Given the description of an element on the screen output the (x, y) to click on. 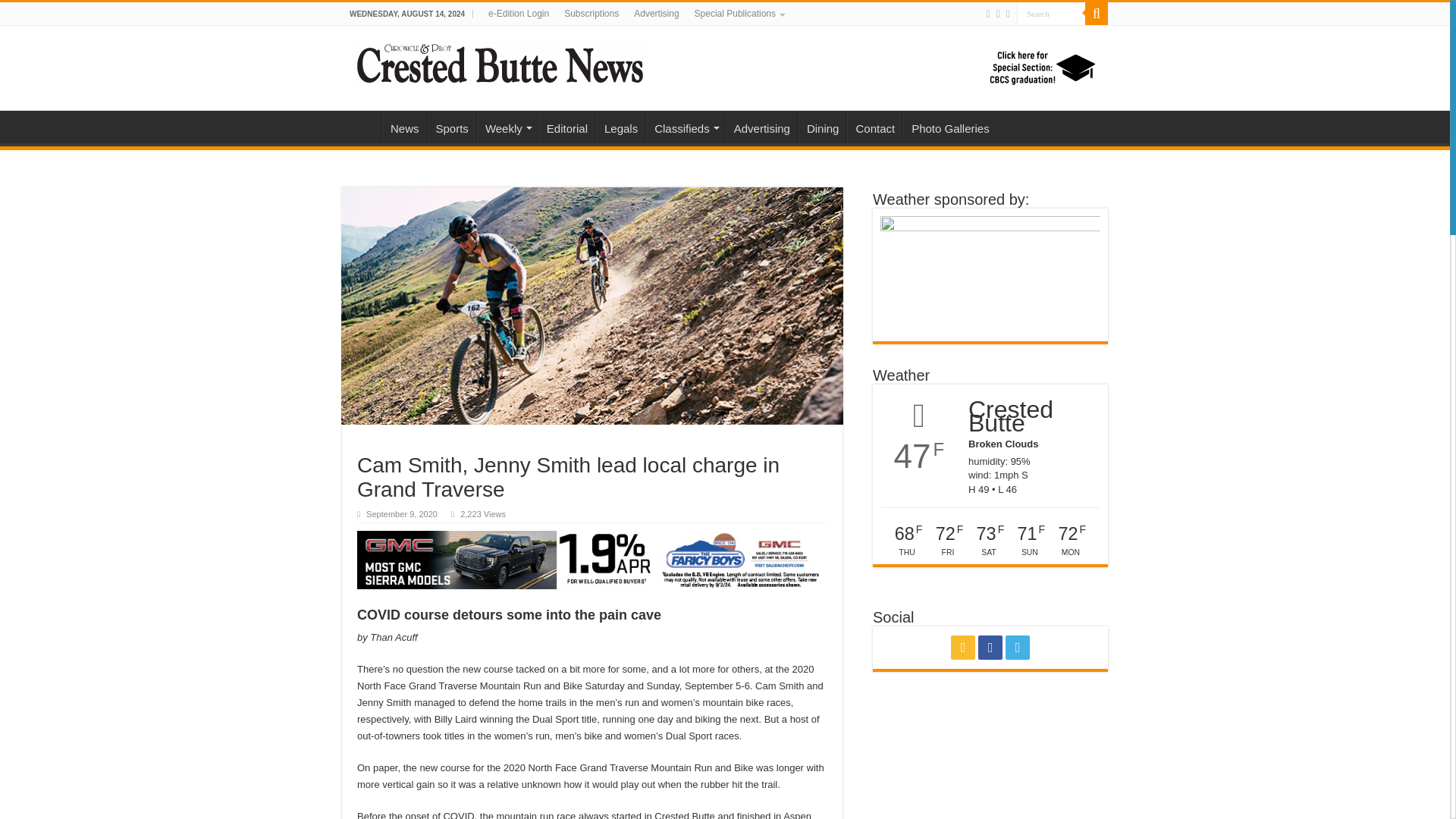
Facebook (990, 647)
Weekly (507, 126)
Search (1050, 13)
Advertising (655, 13)
Search (1050, 13)
e-Edition Login (518, 13)
Classifieds (685, 126)
Advertising (761, 126)
Sports (452, 126)
Search (1050, 13)
